Given the description of an element on the screen output the (x, y) to click on. 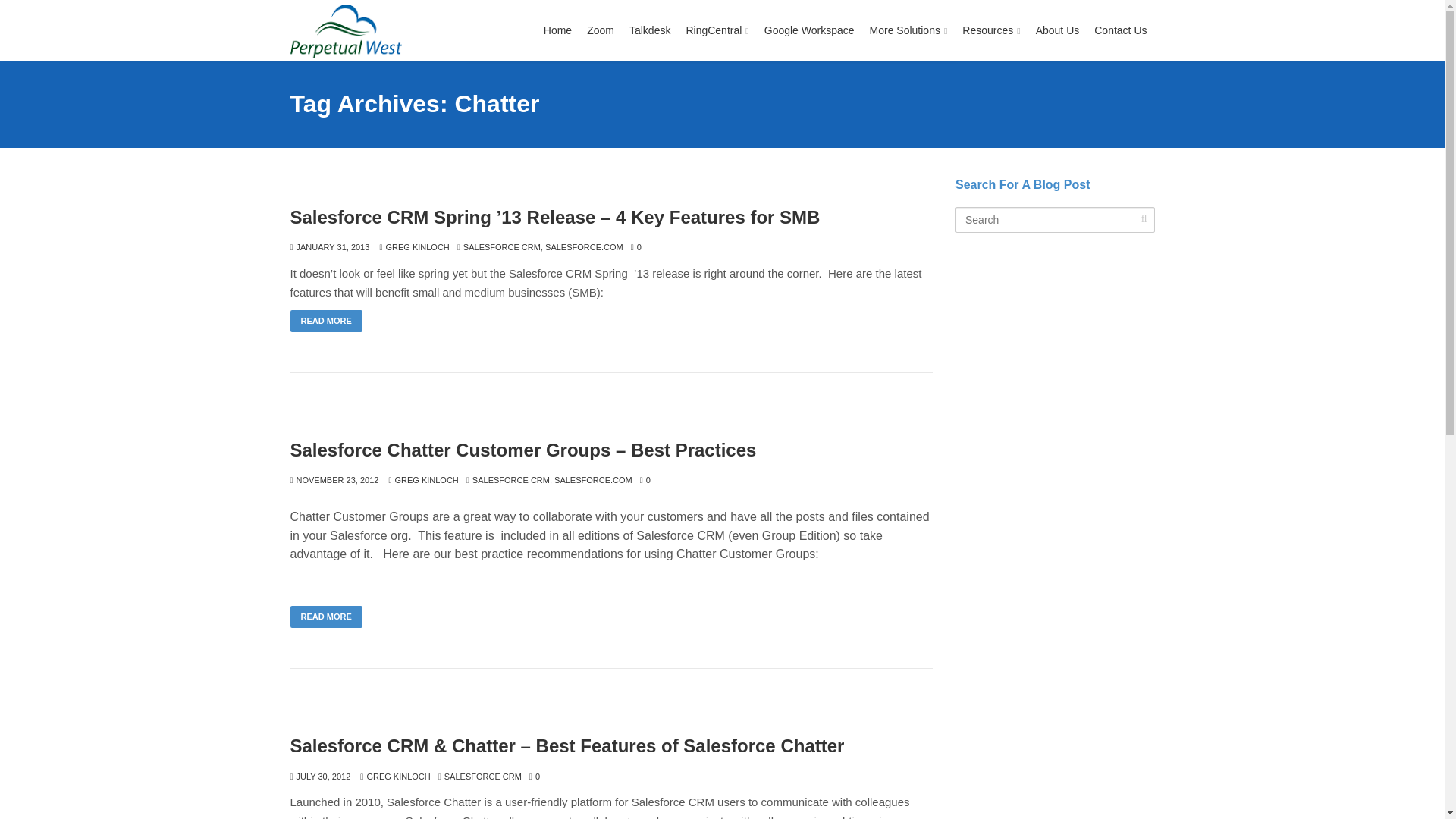
Google Workspace (809, 30)
Contact Us (1120, 30)
More Solutions (908, 30)
Talkdesk (649, 30)
Resources (991, 30)
RingCentral (716, 30)
About Us (1057, 30)
